Given the description of an element on the screen output the (x, y) to click on. 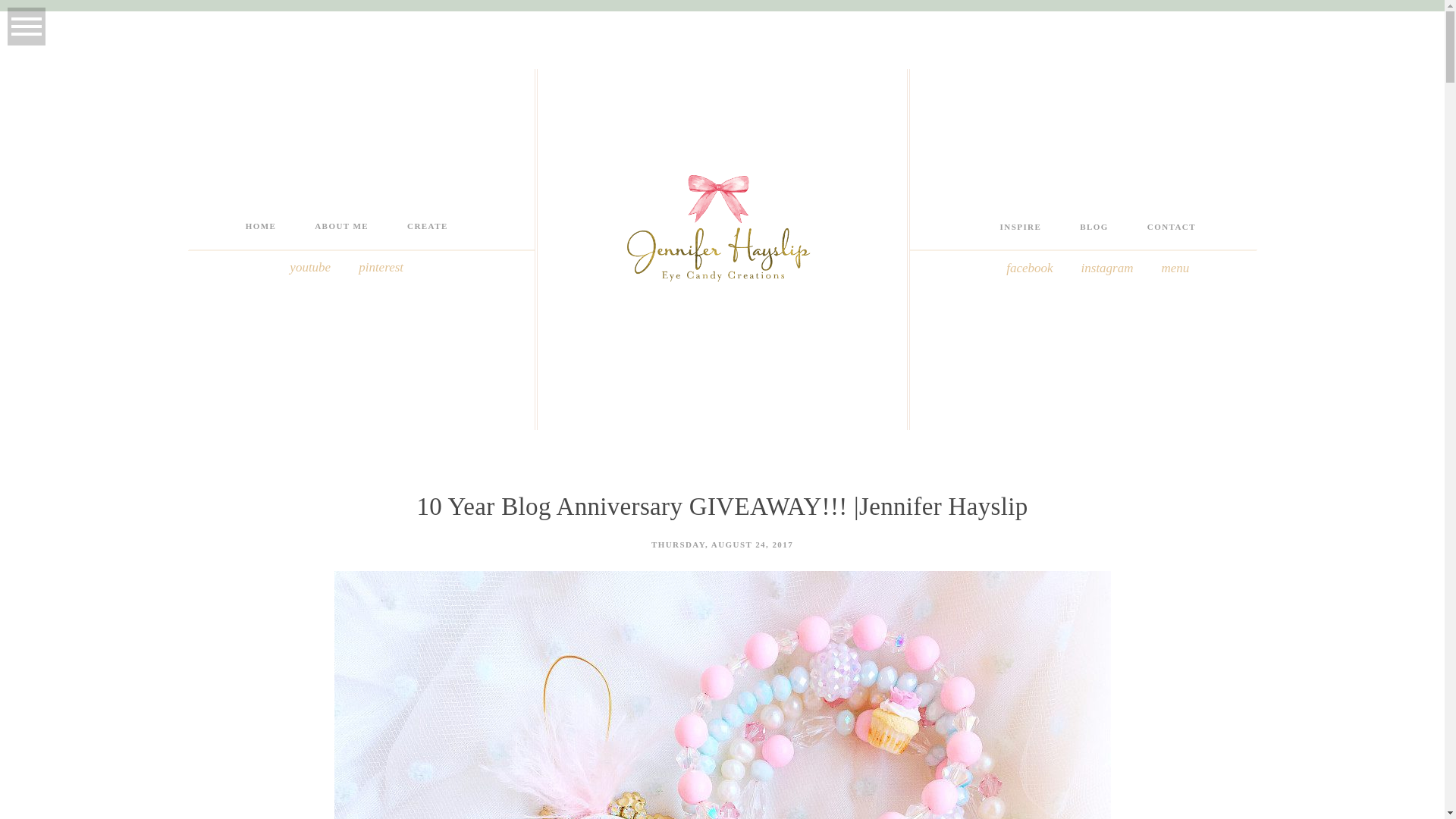
menu (1175, 268)
CONTACT (1171, 225)
BLOG (1094, 225)
INSPIRE (1021, 225)
instagram (1107, 268)
youtube (309, 267)
HOME (261, 225)
pinterest (380, 267)
ABOUT ME (341, 225)
facebook (1029, 268)
CREATE (427, 225)
